Given the description of an element on the screen output the (x, y) to click on. 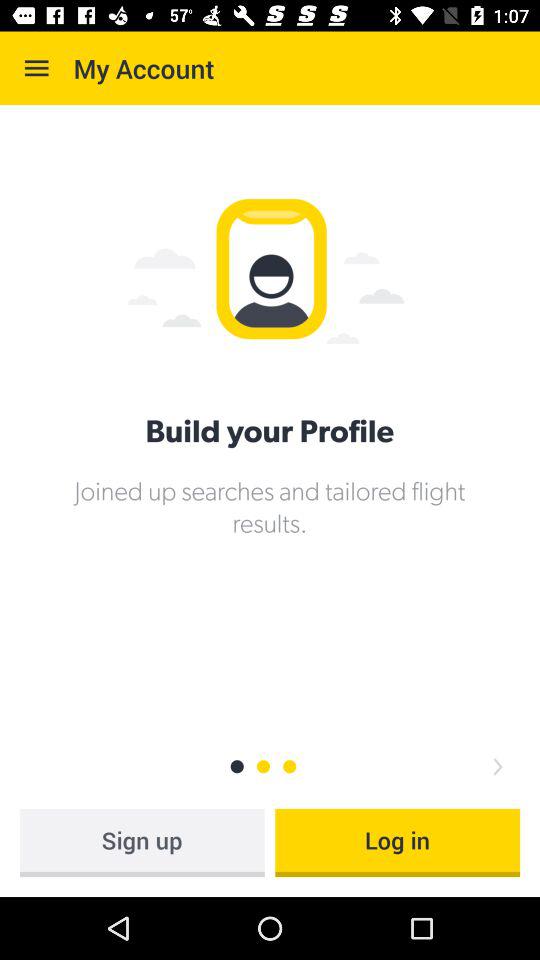
turn off the sign up at the bottom left corner (141, 842)
